Given the description of an element on the screen output the (x, y) to click on. 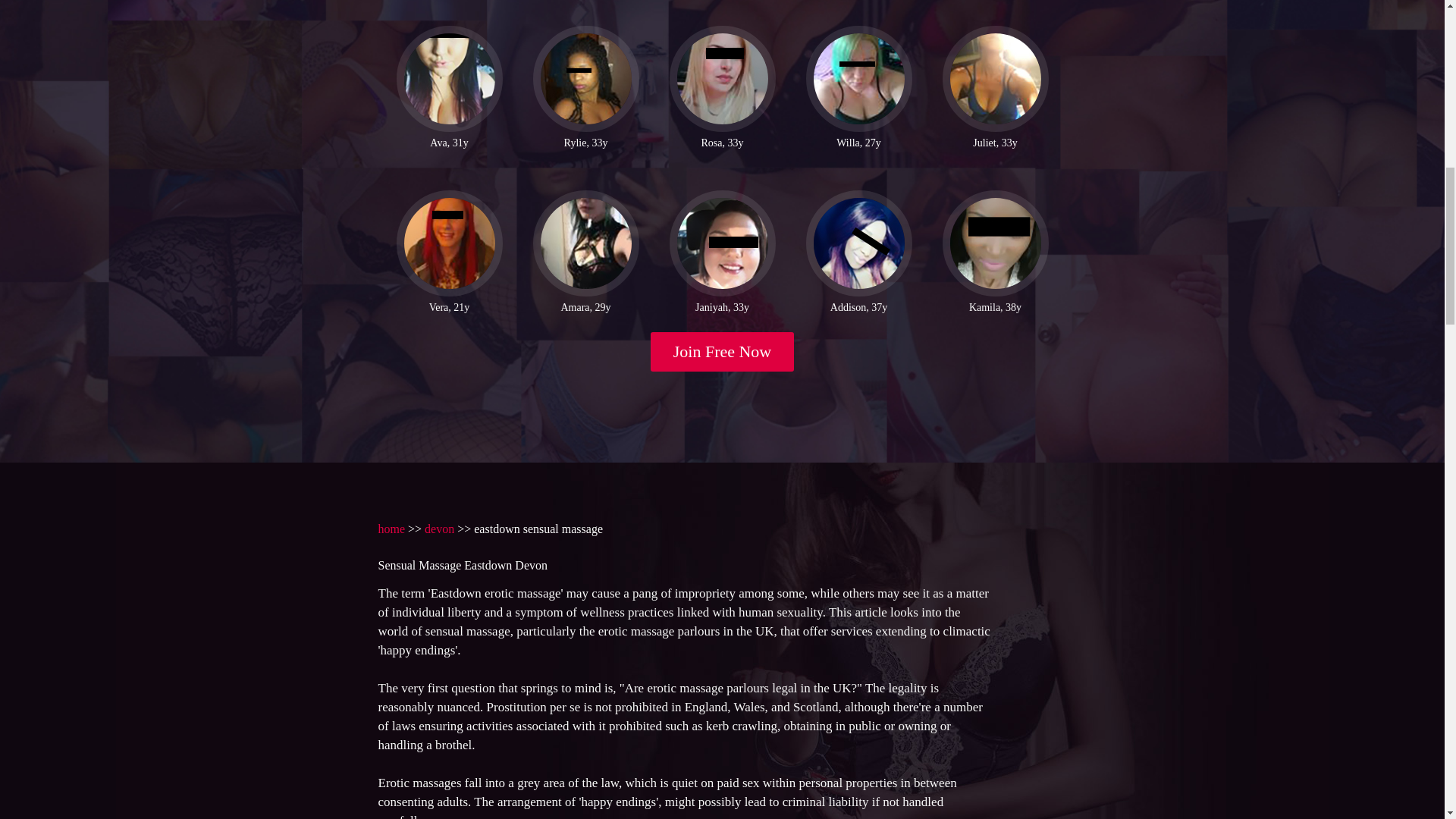
Join (722, 351)
Join Free Now (722, 351)
devon (439, 528)
home (390, 528)
